Given the description of an element on the screen output the (x, y) to click on. 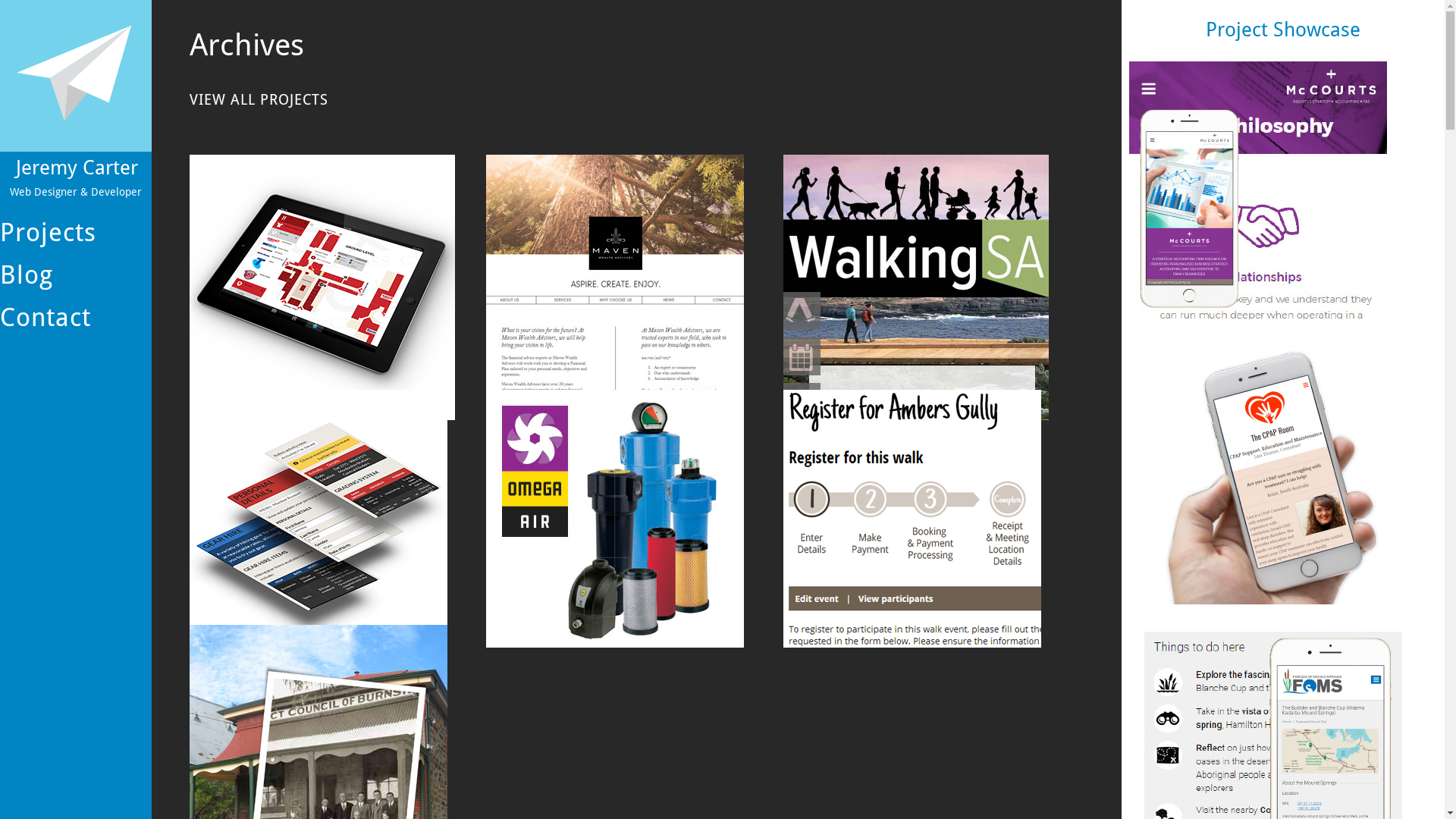
McCourts Element type: hover (1257, 196)
The CPAP Room Element type: hover (1273, 481)
Projects Element type: text (75, 232)
Blog Element type: text (75, 275)
Home Element type: hover (75, 75)
Jeremy Carter Element type: text (76, 167)
VIEW ALL PROJECTS Element type: text (258, 99)
Contact Element type: text (75, 317)
